Given the description of an element on the screen output the (x, y) to click on. 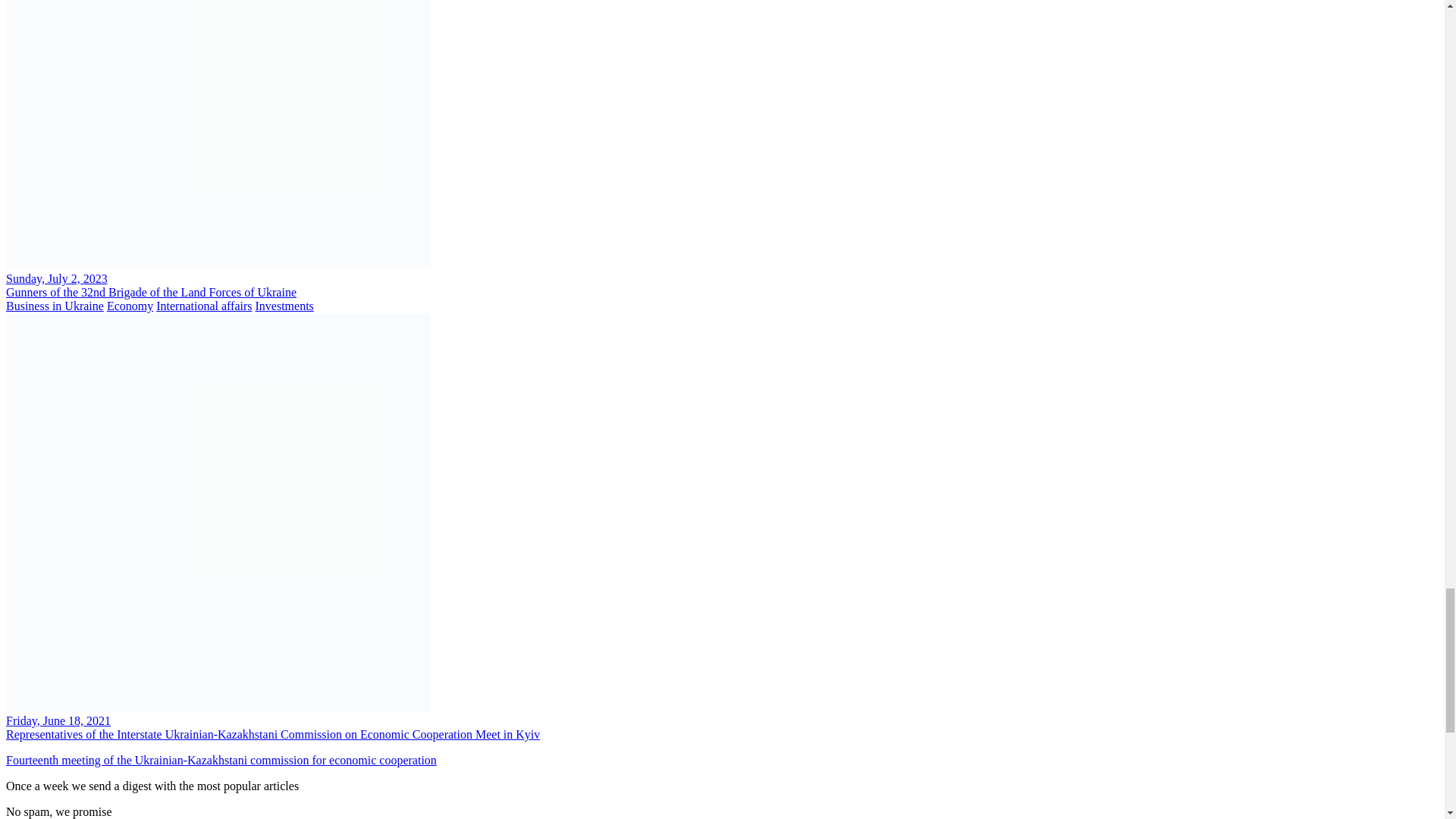
Business in Ukraine (54, 305)
International affairs (203, 305)
Investments (285, 305)
Economy (129, 305)
